Given the description of an element on the screen output the (x, y) to click on. 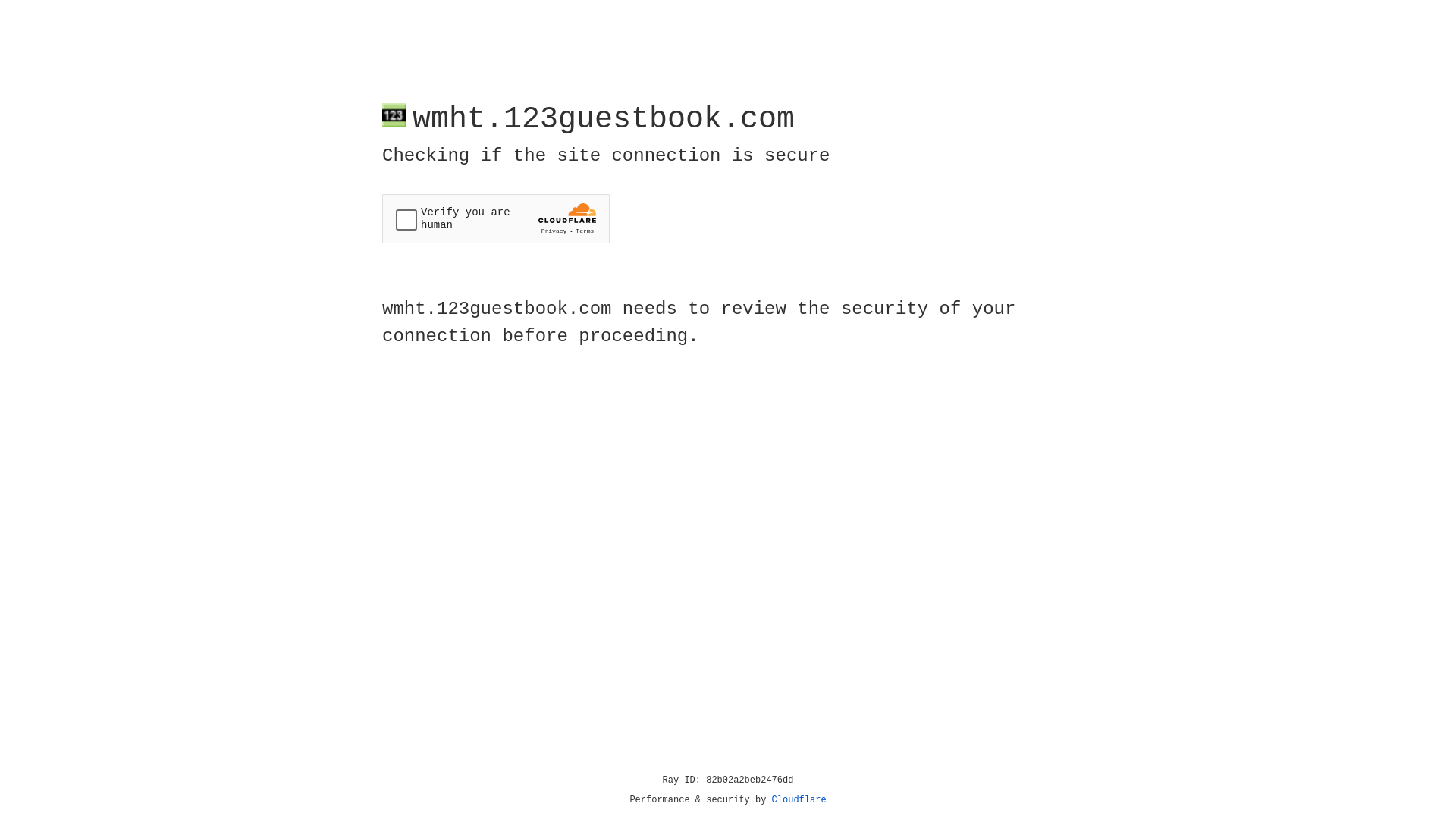
Widget containing a Cloudflare security challenge Element type: hover (495, 218)
Cloudflare Element type: text (798, 799)
